Given the description of an element on the screen output the (x, y) to click on. 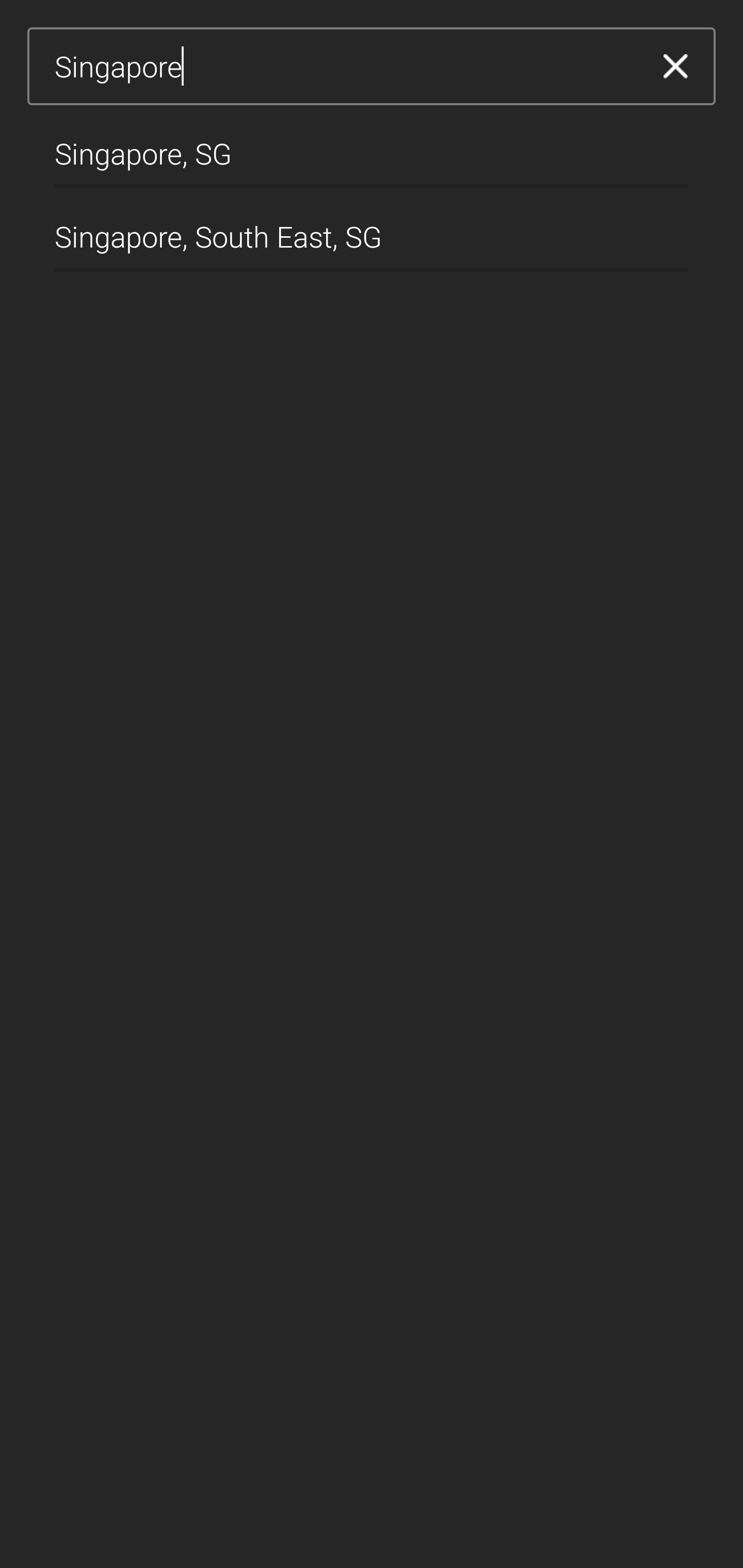
Singapore (345, 66)
Singapore, SG (371, 146)
Singapore, South East, SG (371, 229)
